Given the description of an element on the screen output the (x, y) to click on. 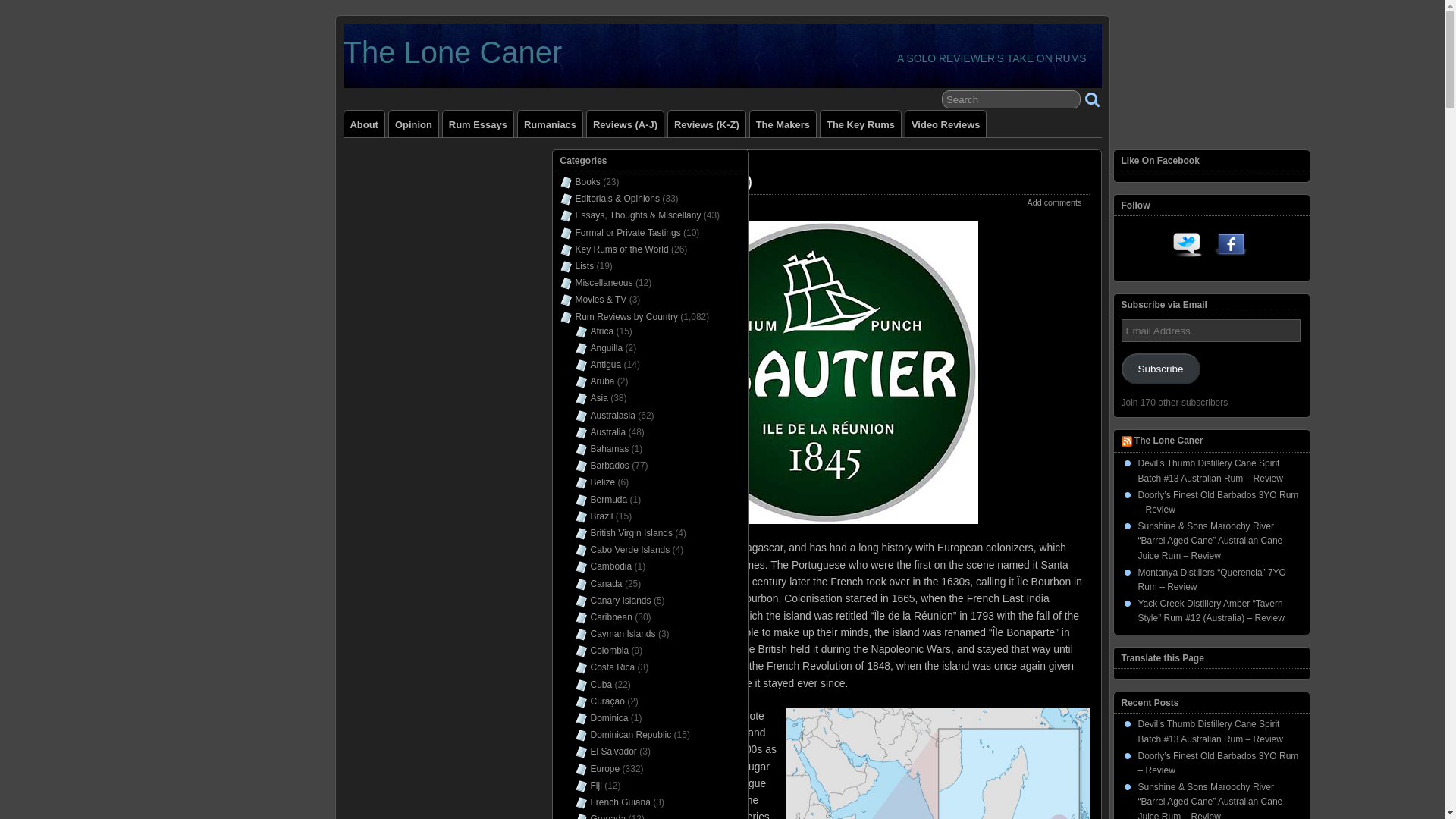
About (363, 123)
Twitter (1188, 246)
The Makers (782, 123)
The Key Rums (861, 123)
Search (1011, 99)
Add comments (1053, 202)
Facebook (1230, 246)
Search (1011, 99)
Rum Essays (477, 123)
Savanna (724, 732)
Rumaniacs (550, 123)
Opinion (413, 123)
Video Reviews (945, 123)
The Lone Caner (452, 52)
